Given the description of an element on the screen output the (x, y) to click on. 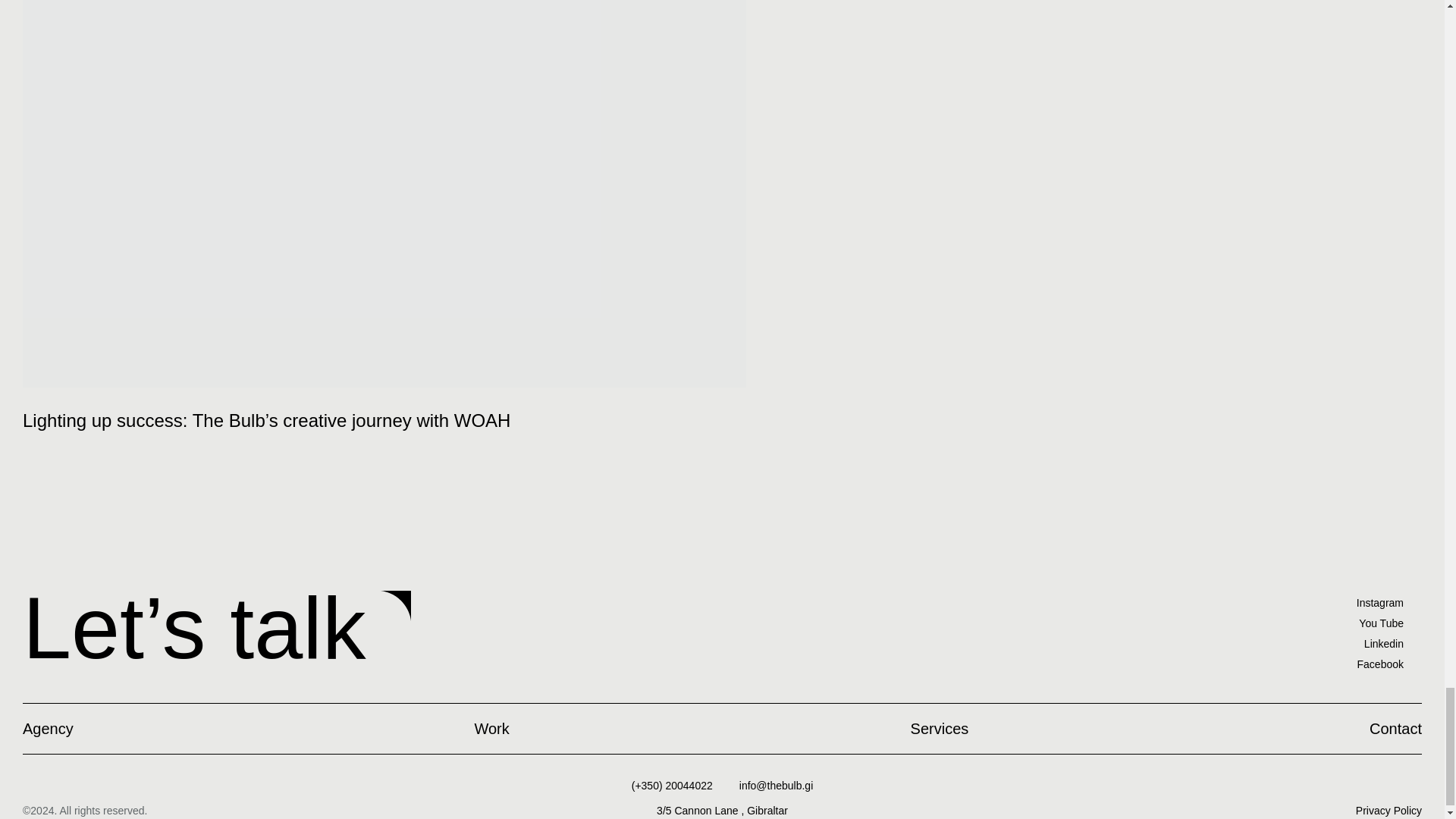
Privacy Policy (1388, 810)
Services (940, 728)
Linkedin (1379, 643)
Instagram (1379, 602)
You Tube (1379, 623)
Contact (1396, 728)
Facebook (1379, 664)
Agency (48, 728)
